Given the description of an element on the screen output the (x, y) to click on. 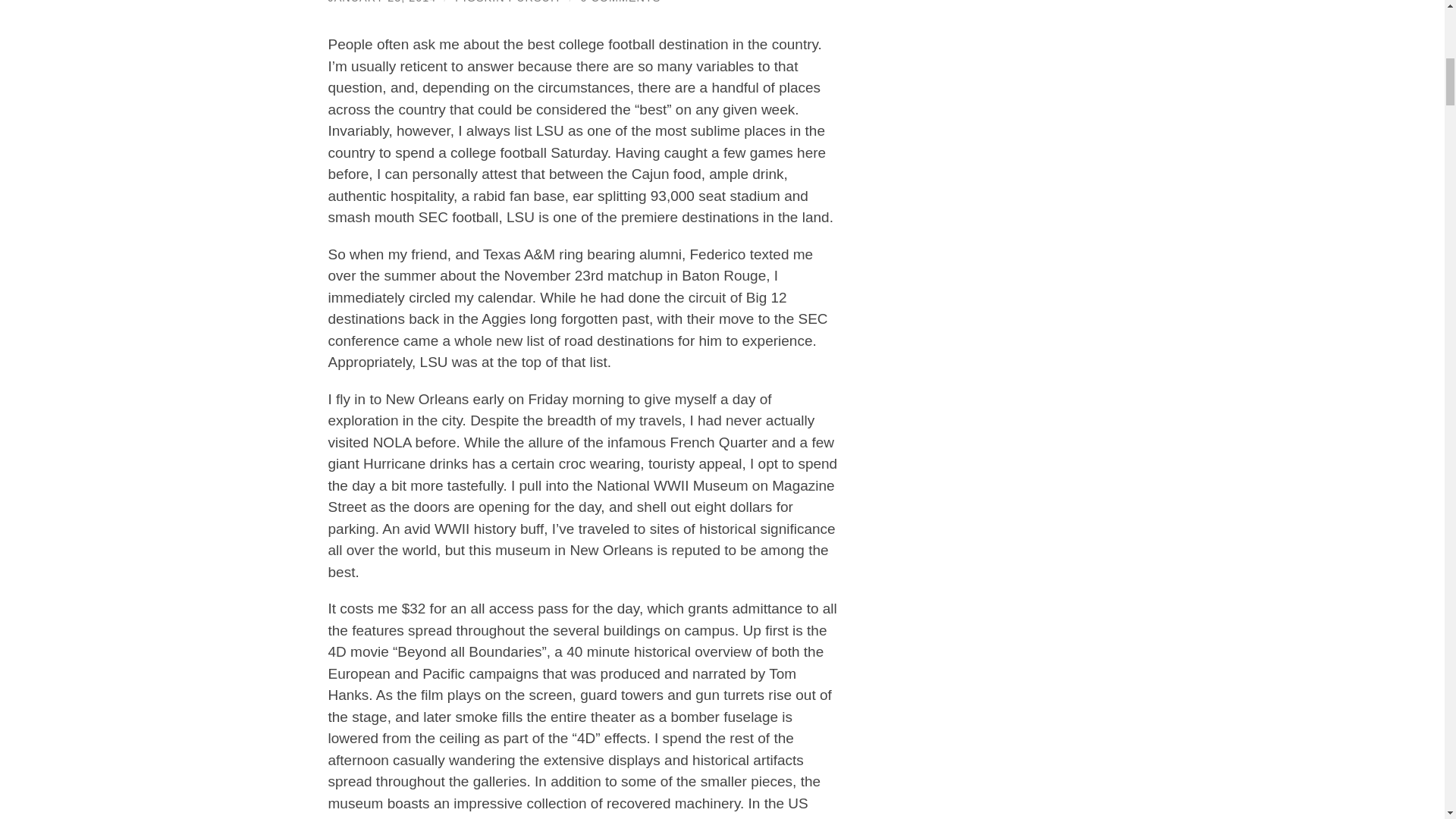
Posts by Pigskin Pursuit (507, 2)
